Given the description of an element on the screen output the (x, y) to click on. 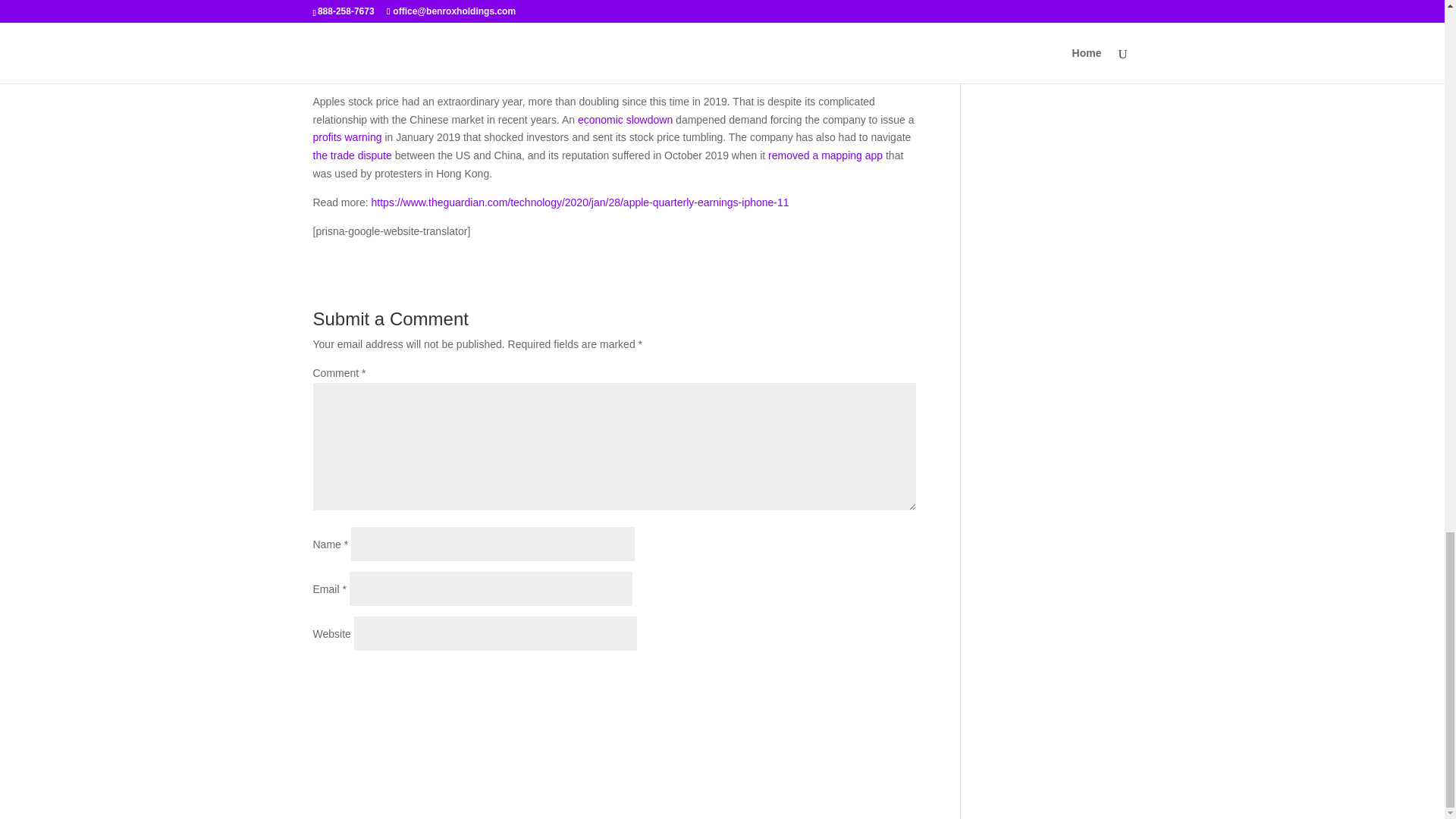
the trade dispute (352, 155)
profits warning (347, 137)
Submit Comment (840, 679)
economic slowdown (625, 119)
Submit Comment (840, 679)
removed a mapping app (825, 155)
estimates (865, 2)
